Given the description of an element on the screen output the (x, y) to click on. 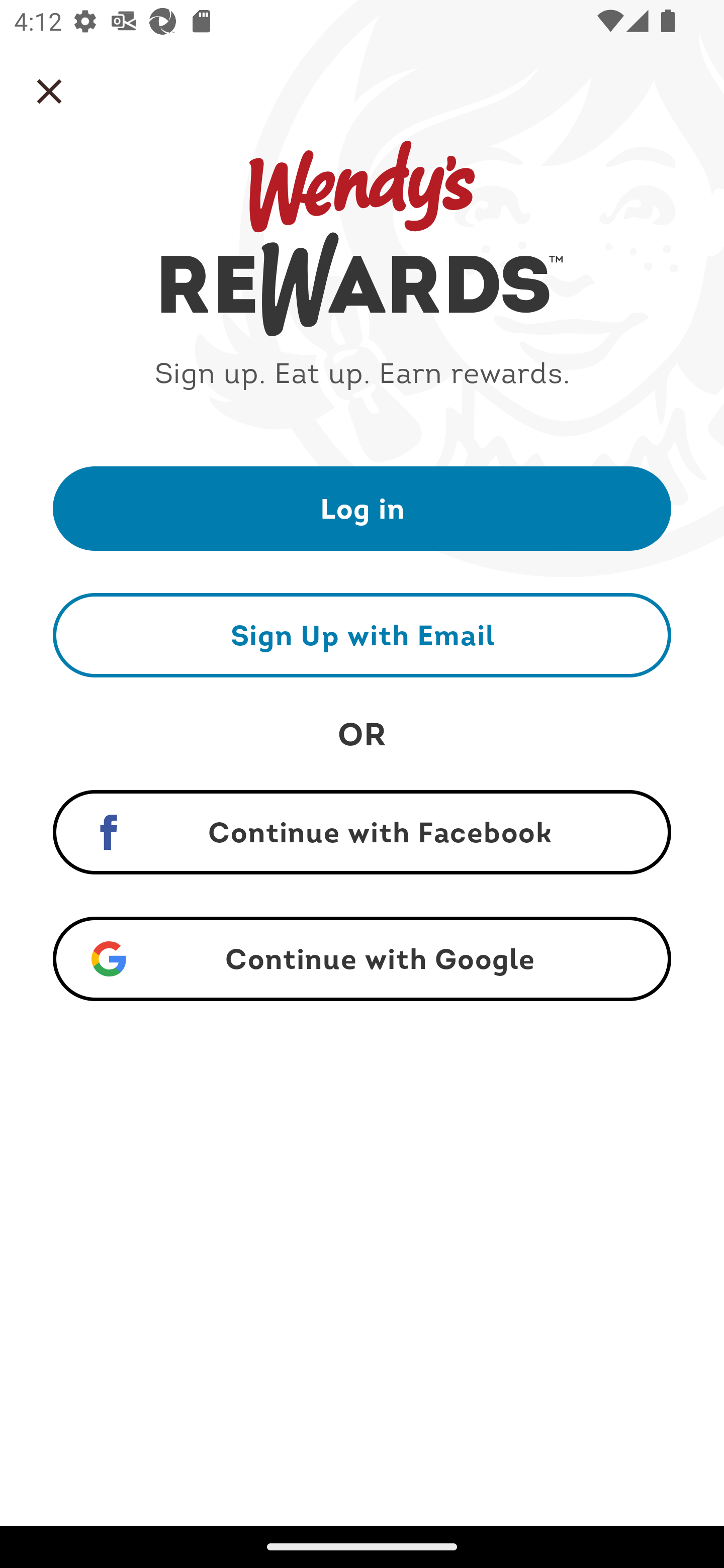
close (49, 91)
Log in (361, 507)
Sign Up with Email (361, 634)
Continue with Facebook (361, 832)
Continue with Google (361, 958)
